Given the description of an element on the screen output the (x, y) to click on. 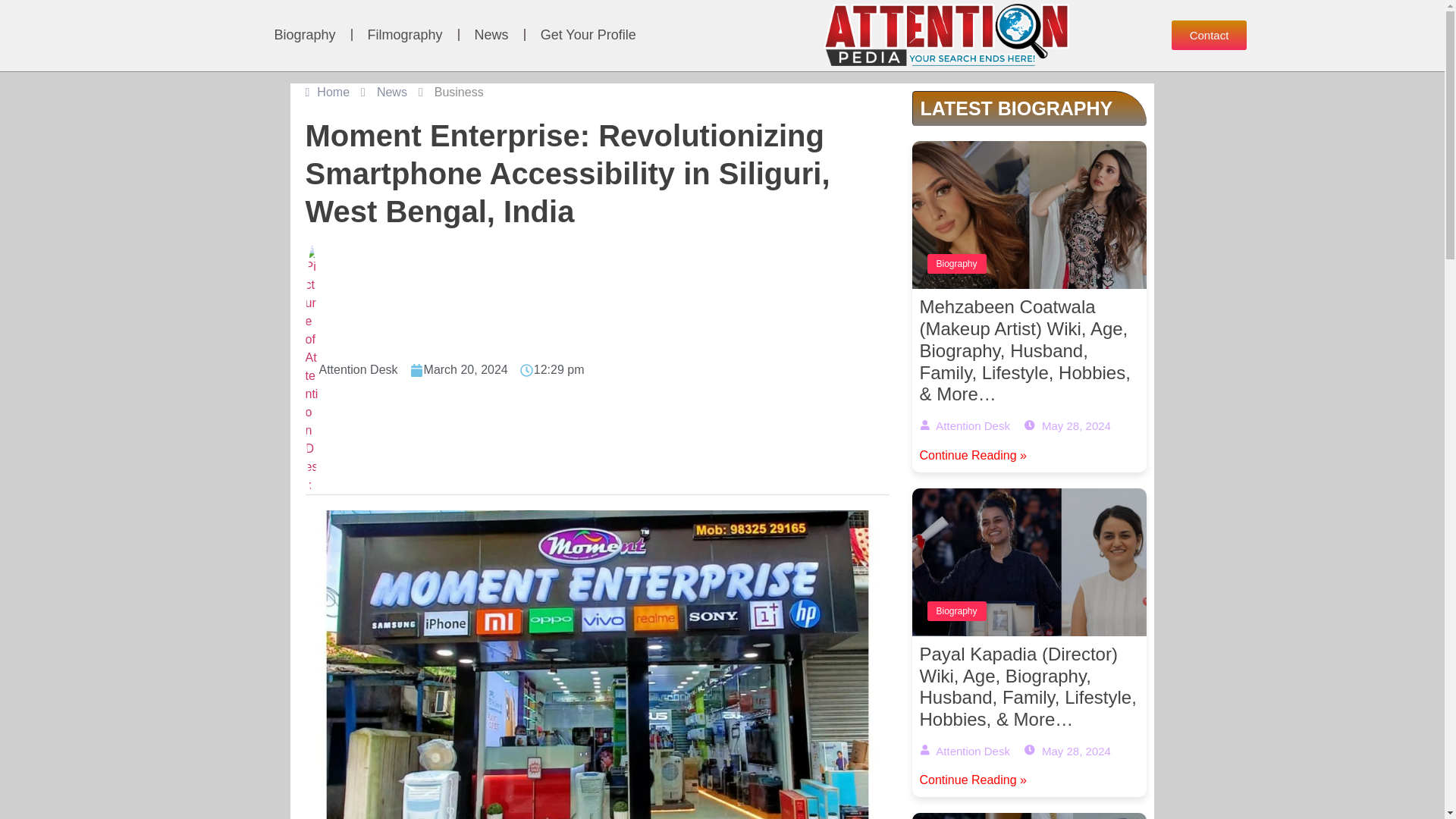
Home (326, 92)
Business (458, 92)
Get Your Profile (587, 34)
News (492, 34)
Filmography (405, 34)
Biography (304, 34)
Contact (1209, 34)
News (392, 92)
March 20, 2024 (459, 370)
